Given the description of an element on the screen output the (x, y) to click on. 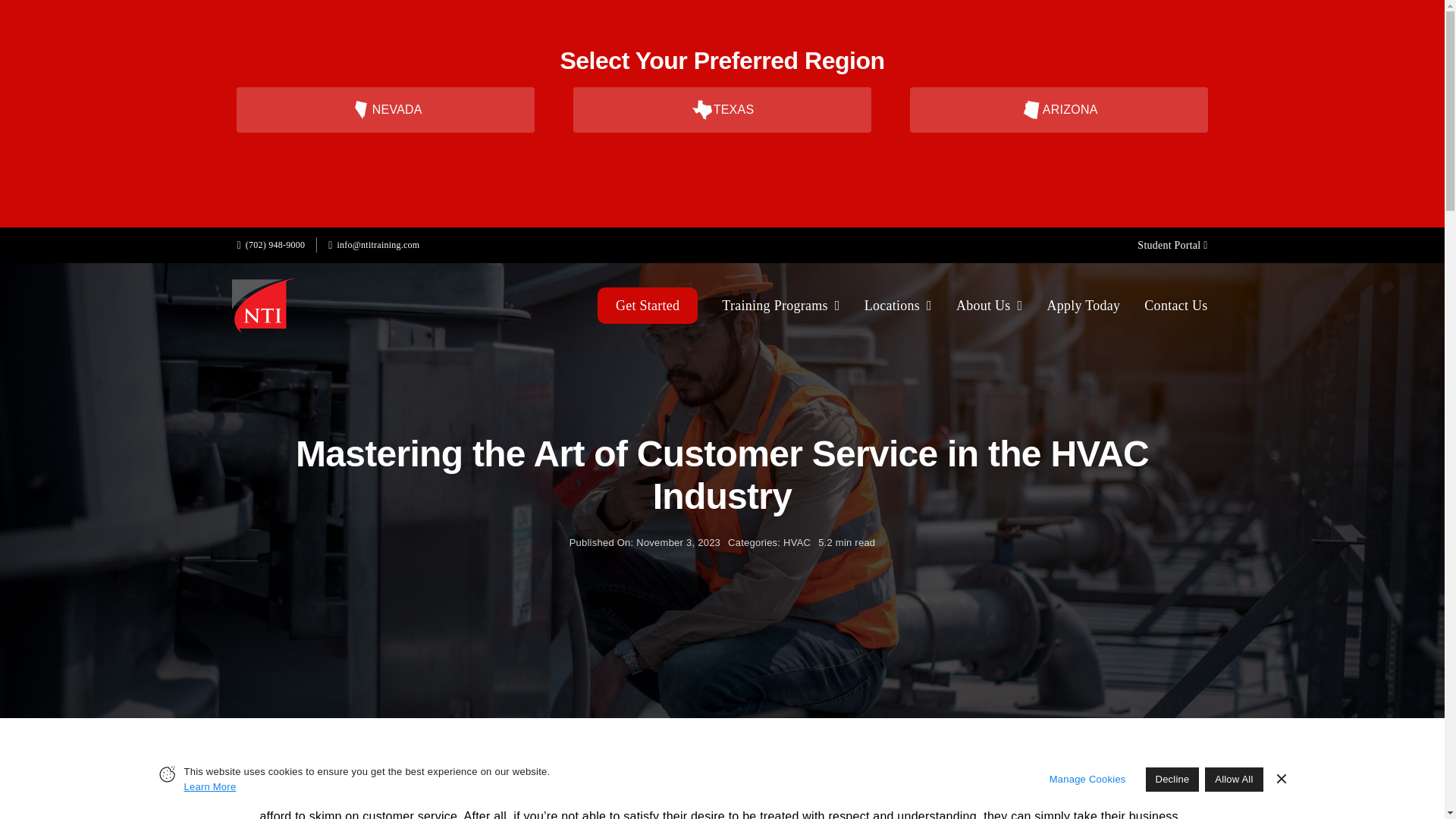
Training Programs (781, 305)
HVAC systems (585, 794)
Student Portal (1166, 245)
HVAC (796, 542)
Locations (897, 305)
Texas (701, 109)
Get Started (646, 305)
Nevada (360, 109)
Arizona (1031, 109)
Apply Today (1082, 305)
Contact Us (1175, 305)
About Us (989, 305)
